Given the description of an element on the screen output the (x, y) to click on. 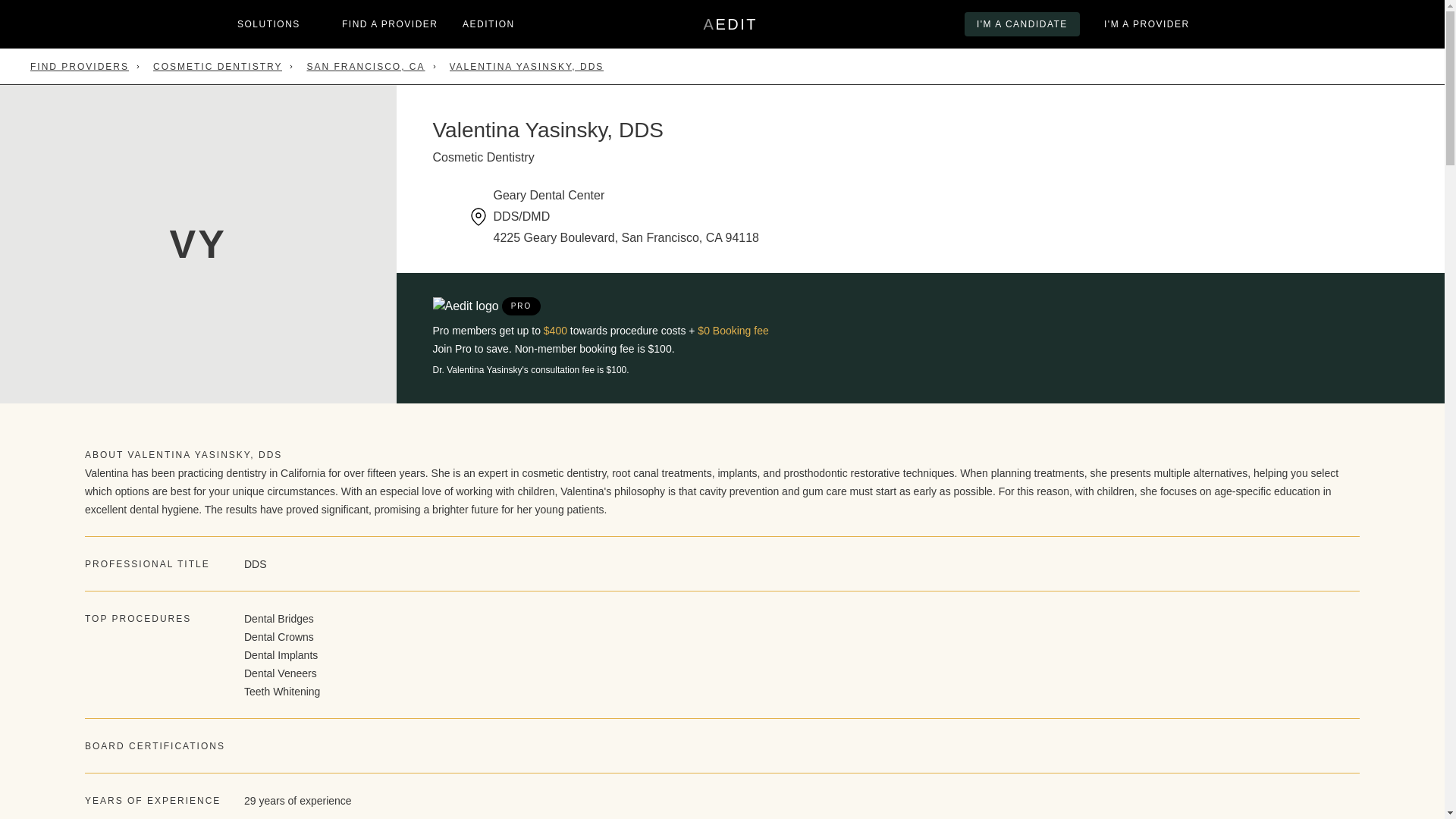
FIND PROVIDERS (79, 66)
SAN FRANCISCO, CA (365, 66)
COSMETIC DENTISTRY (217, 66)
I'M A CANDIDATE (1021, 24)
AEDITION (730, 24)
FIND A PROVIDER (489, 24)
